Given the description of an element on the screen output the (x, y) to click on. 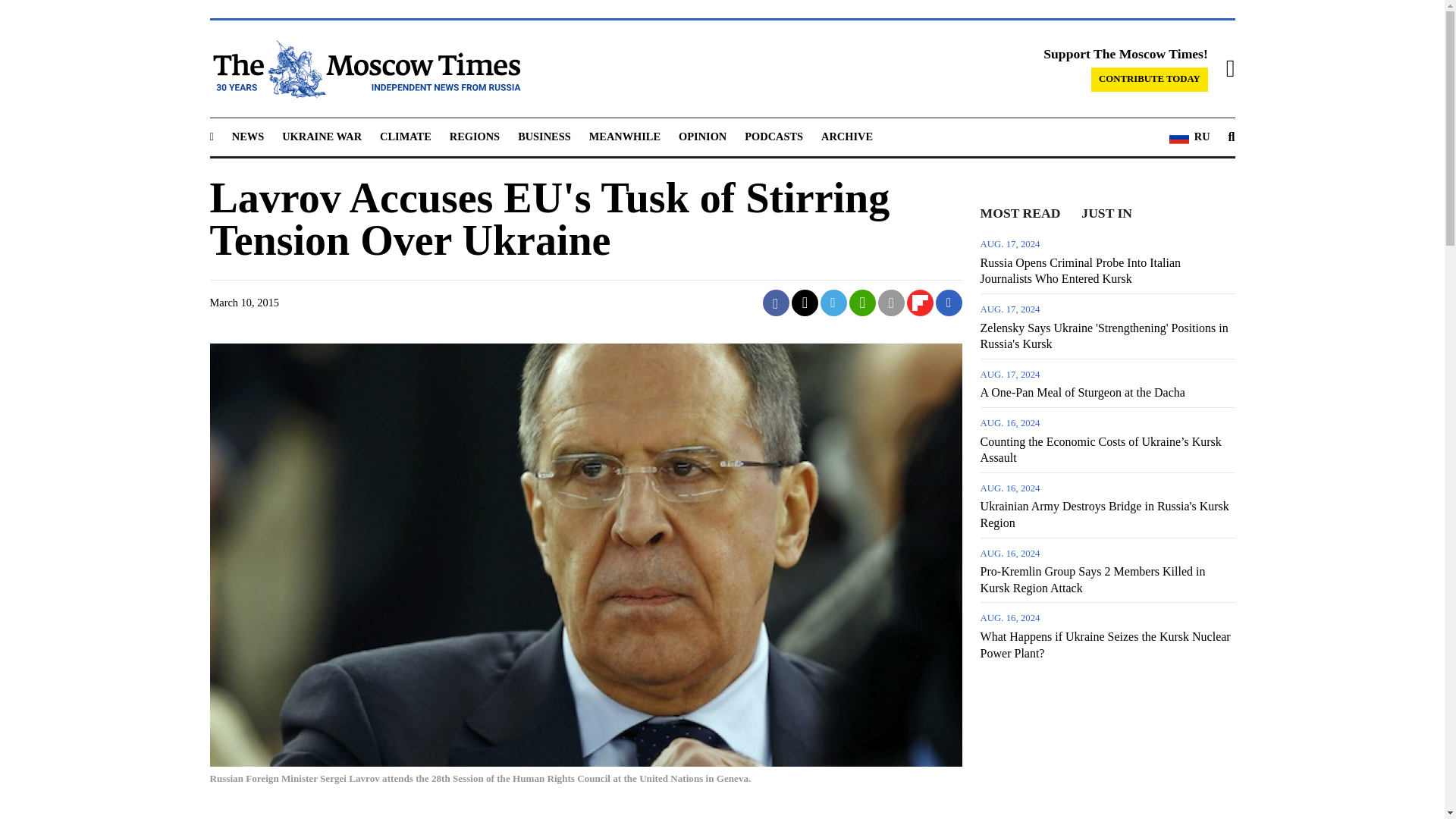
CLIMATE (405, 136)
PODCASTS (773, 136)
ARCHIVE (846, 136)
Share on Telegram (834, 302)
CONTRIBUTE TODAY (1149, 79)
REGIONS (474, 136)
The Moscow Times - Independent News from Russia (364, 68)
UKRAINE WAR (321, 136)
RU (1189, 137)
BUSINESS (544, 136)
